Given the description of an element on the screen output the (x, y) to click on. 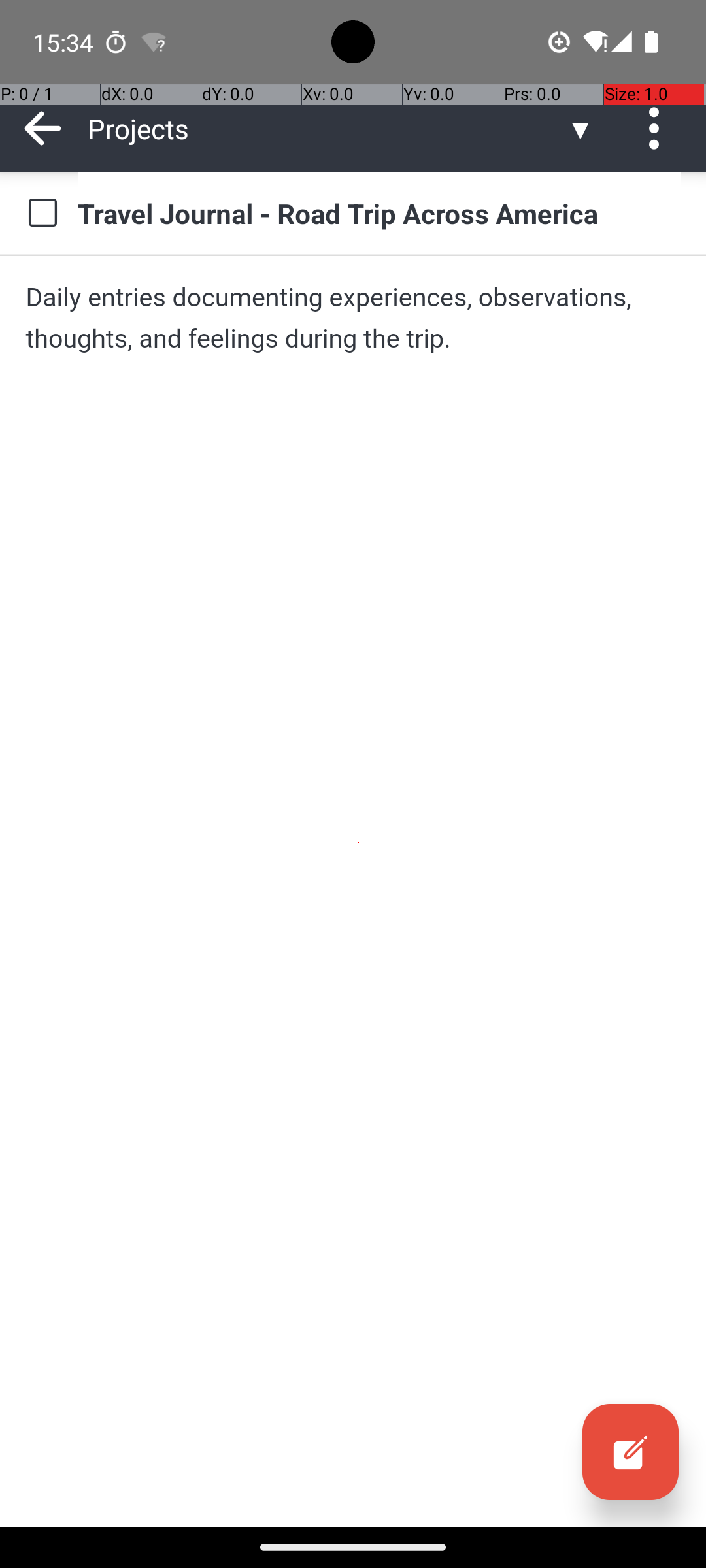
Daily entries documenting experiences, observations, thoughts, and feelings during the trip. Element type: android.widget.TextView (352, 317)
